Given the description of an element on the screen output the (x, y) to click on. 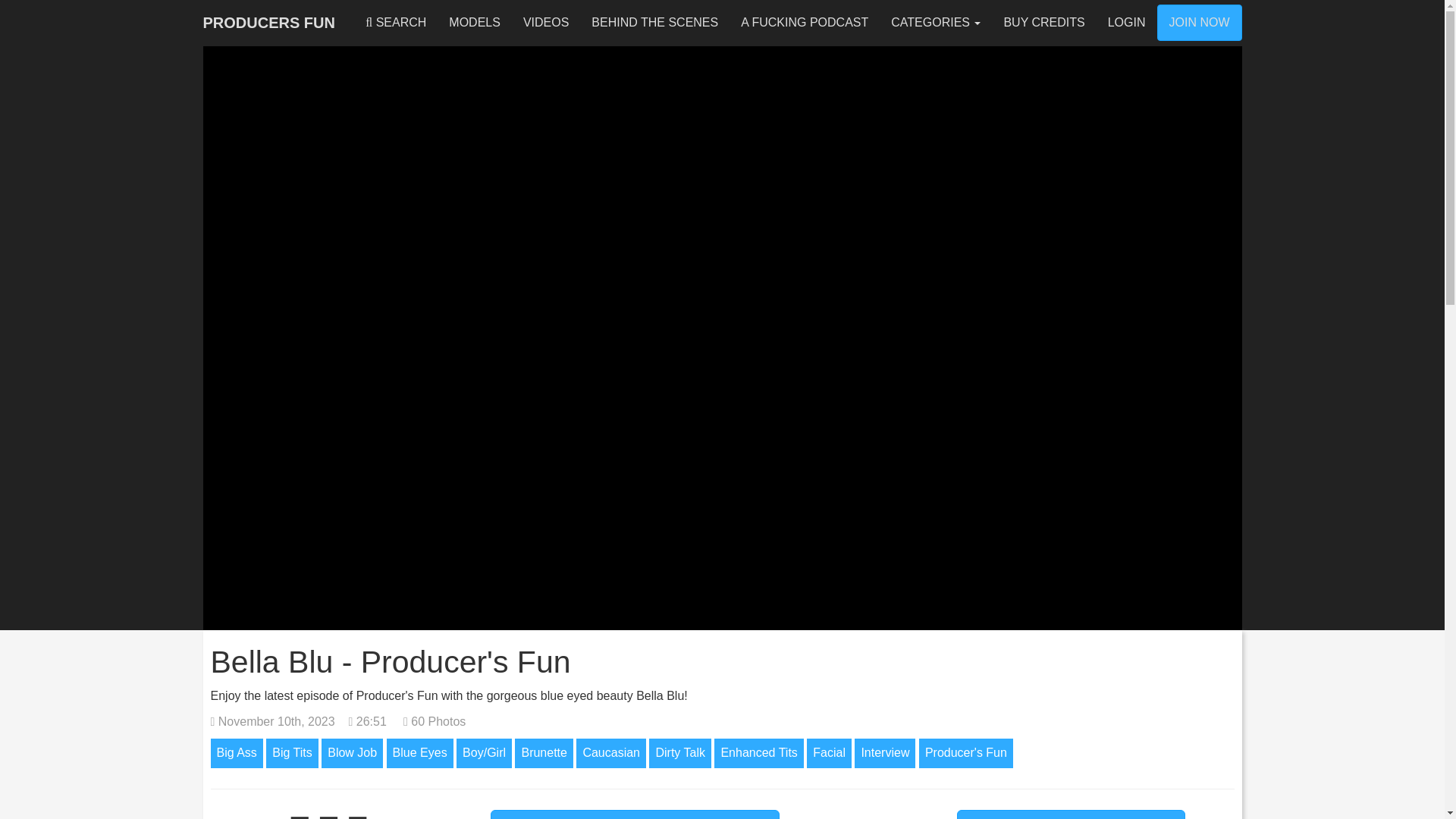
Facial (828, 753)
SEARCH (395, 22)
BUY CREDITS (1043, 22)
BEHIND THE SCENES (654, 22)
Enhanced Tits (758, 753)
Blow Job (351, 753)
A FUCKING PODCAST (804, 22)
Caucasian (611, 753)
PURCHASE VIDEO FOR 15 CREDITS (635, 814)
Big Ass (237, 753)
CATEGORIES (935, 22)
Dirty Talk (680, 753)
VIDEOS (545, 22)
Brunette (543, 753)
Big Tits (291, 753)
